Given the description of an element on the screen output the (x, y) to click on. 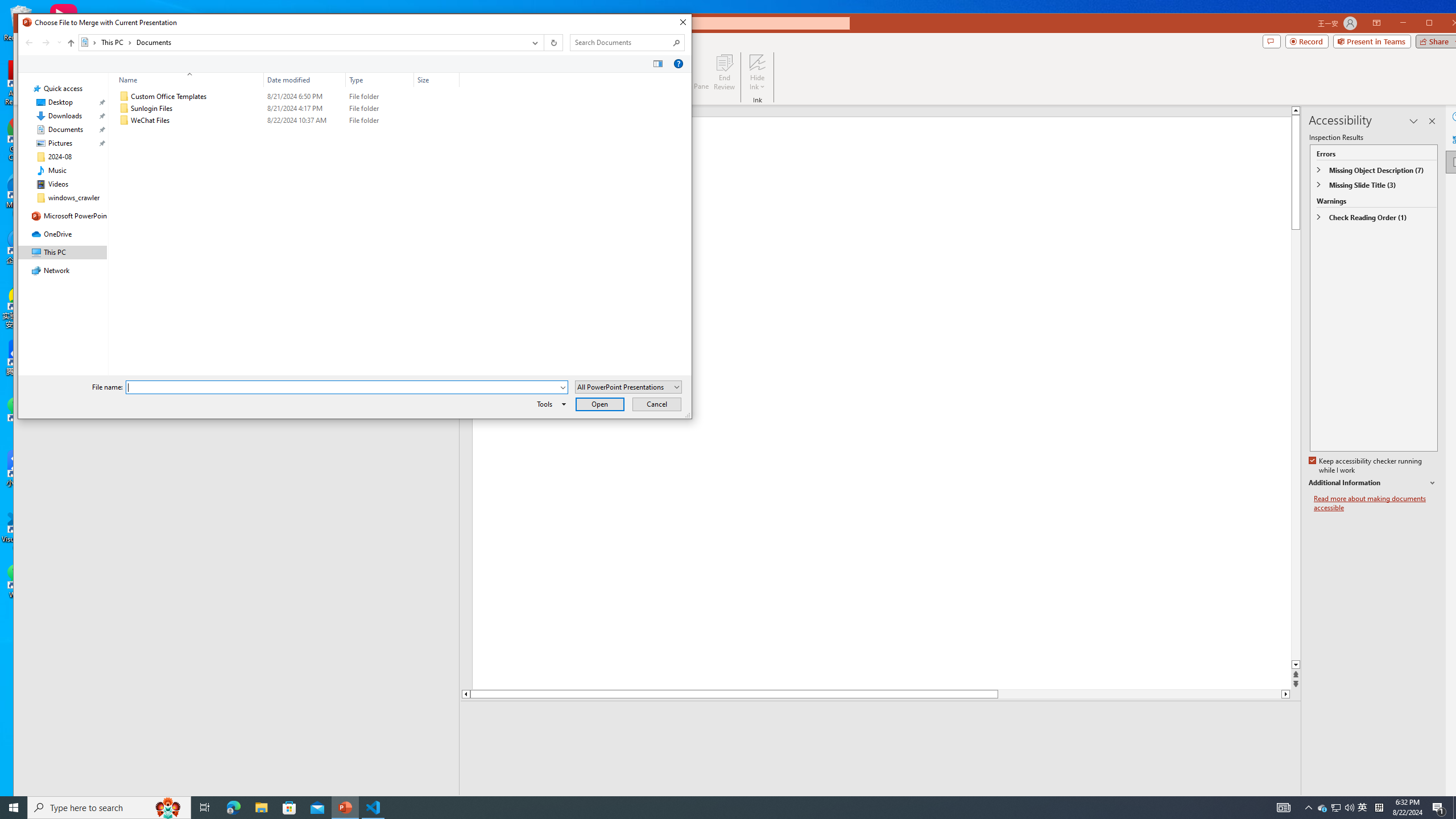
Show desktop (1454, 807)
User Promoted Notification Area (1336, 807)
Preview pane (657, 63)
File Explorer (261, 807)
Notification Chevron (1308, 807)
Action Center, 1 new notification (1439, 807)
Menu On (1235, 802)
Microsoft Store (289, 807)
Navigation buttons (42, 42)
Search Box (621, 42)
Tools (549, 404)
